Given the description of an element on the screen output the (x, y) to click on. 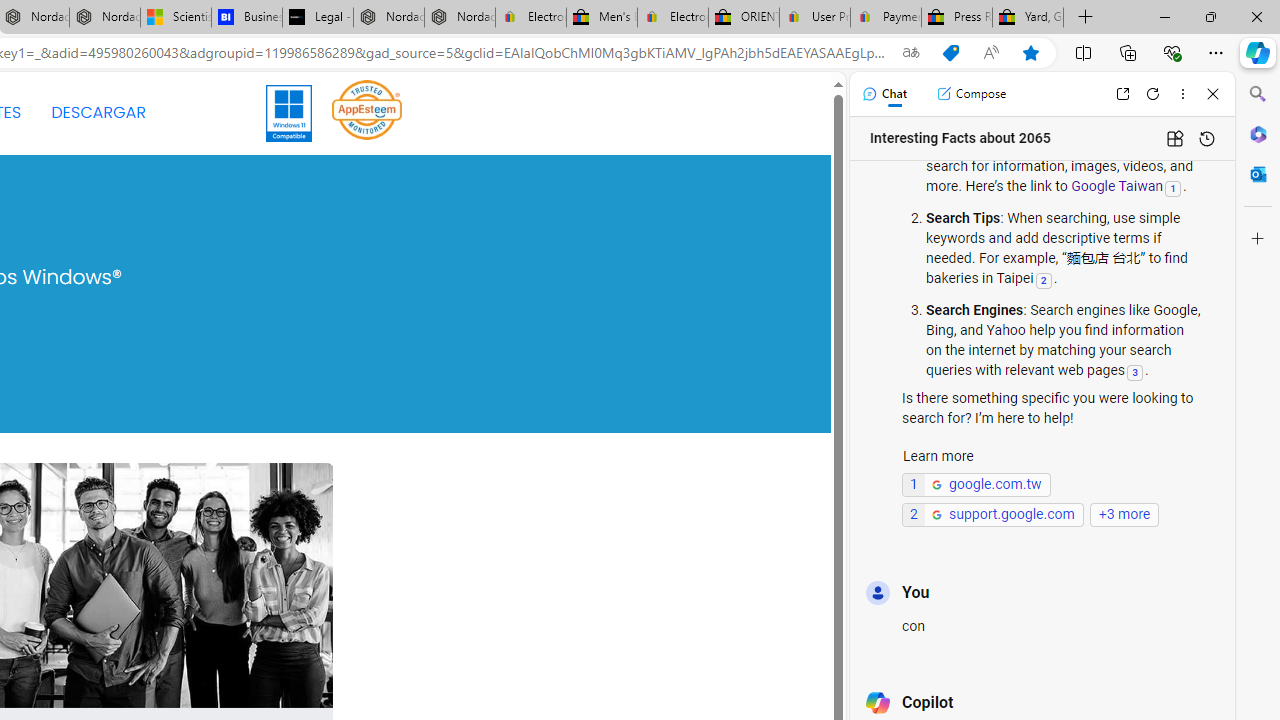
Outlook (1258, 174)
DESCARGAR (98, 112)
Yard, Garden & Outdoor Living (1028, 17)
DESCARGAR (98, 112)
Shopping in Microsoft Edge (950, 53)
